Given the description of an element on the screen output the (x, y) to click on. 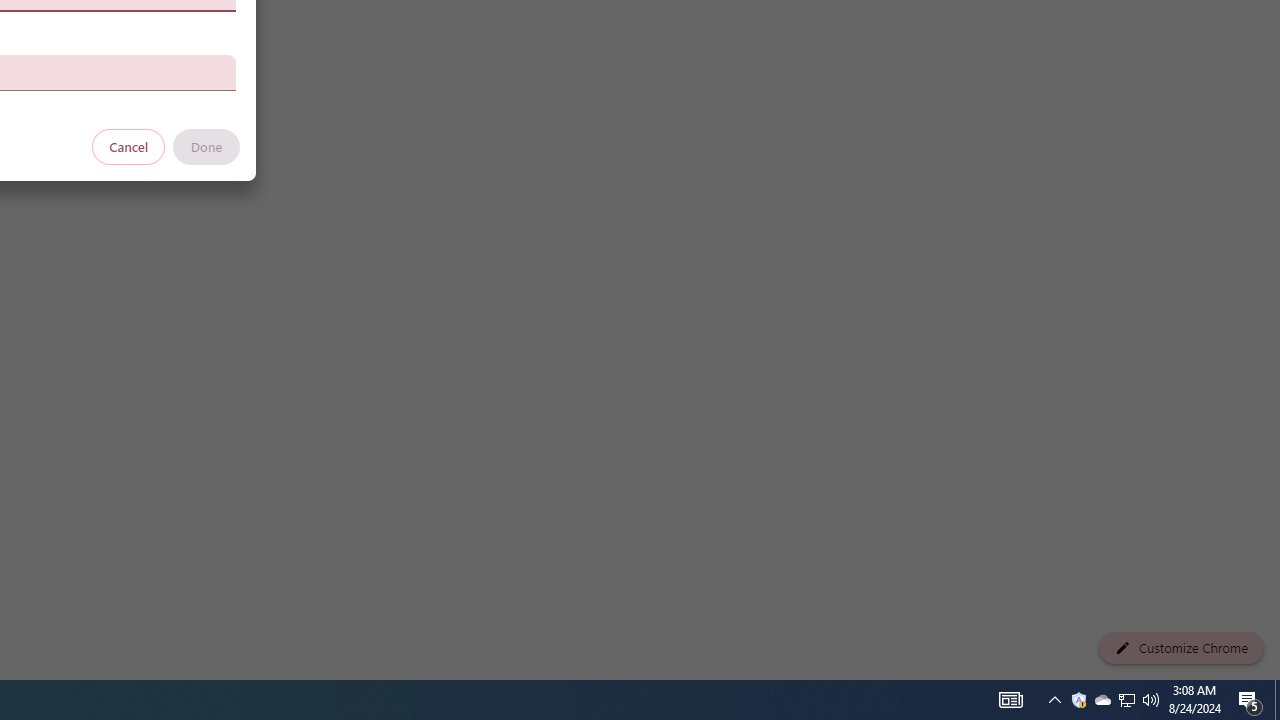
Cancel (129, 146)
Done (206, 146)
